Given the description of an element on the screen output the (x, y) to click on. 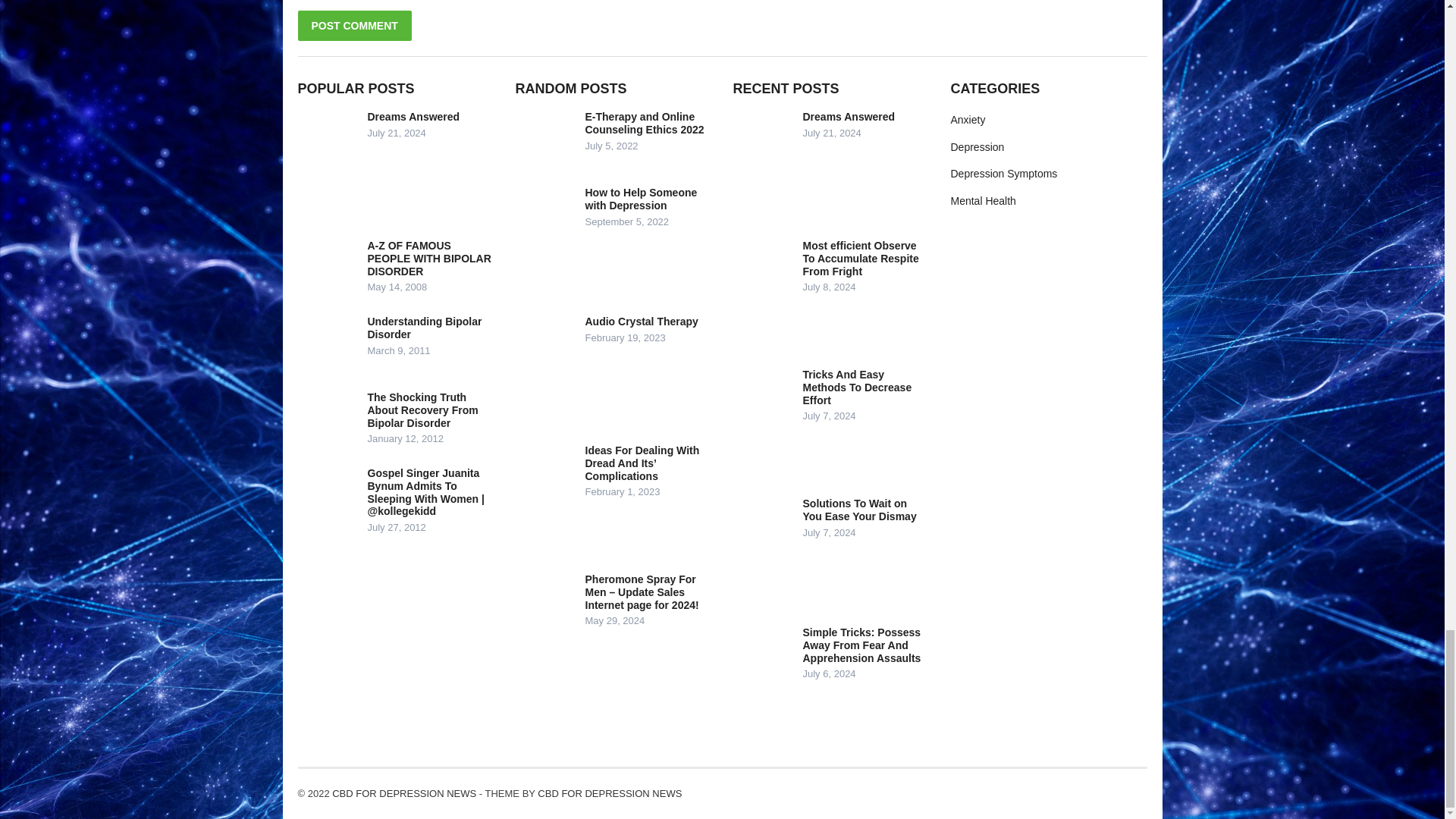
Post Comment (353, 25)
